Given the description of an element on the screen output the (x, y) to click on. 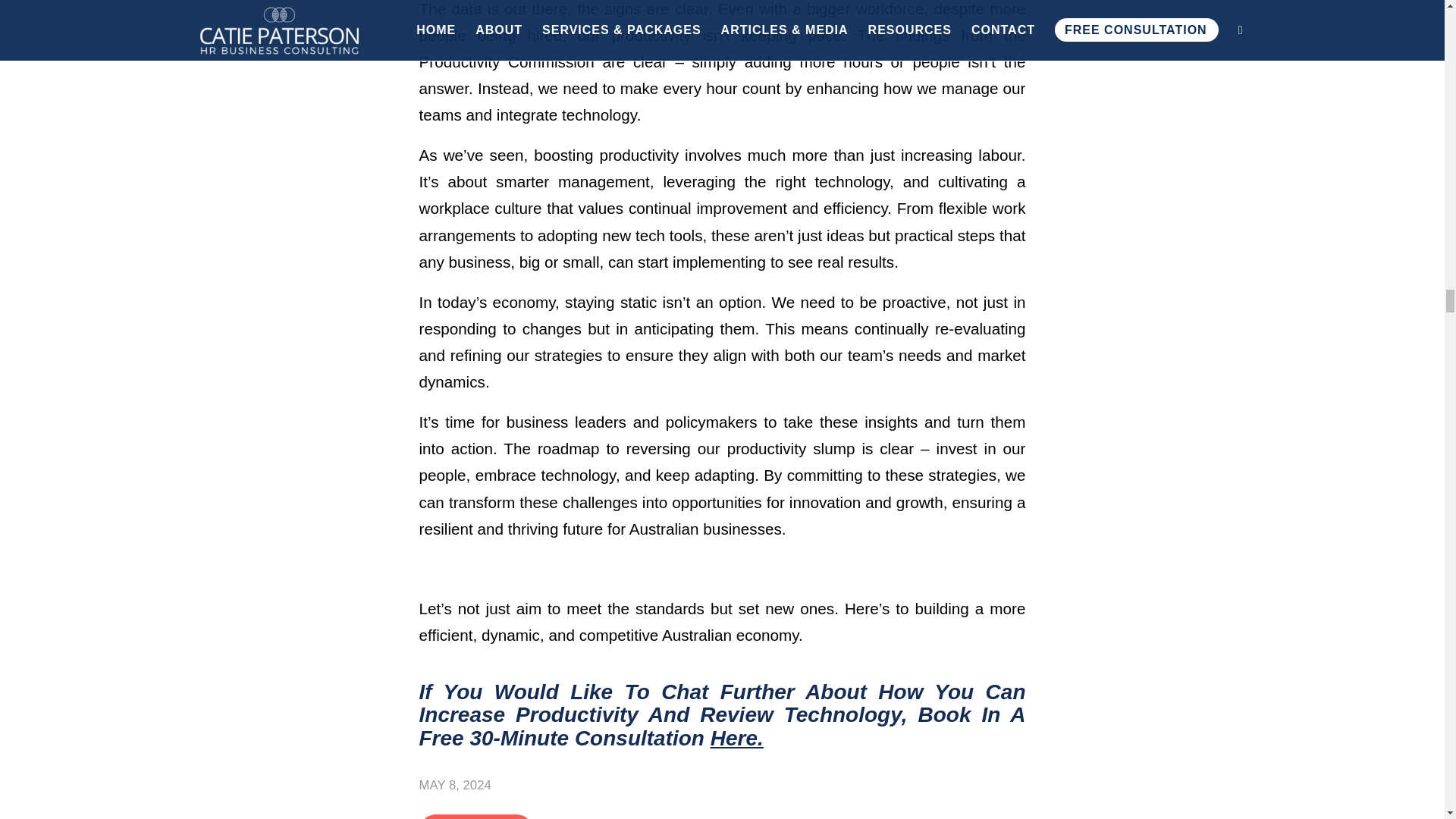
BACK (475, 816)
Here. (736, 738)
